Given the description of an element on the screen output the (x, y) to click on. 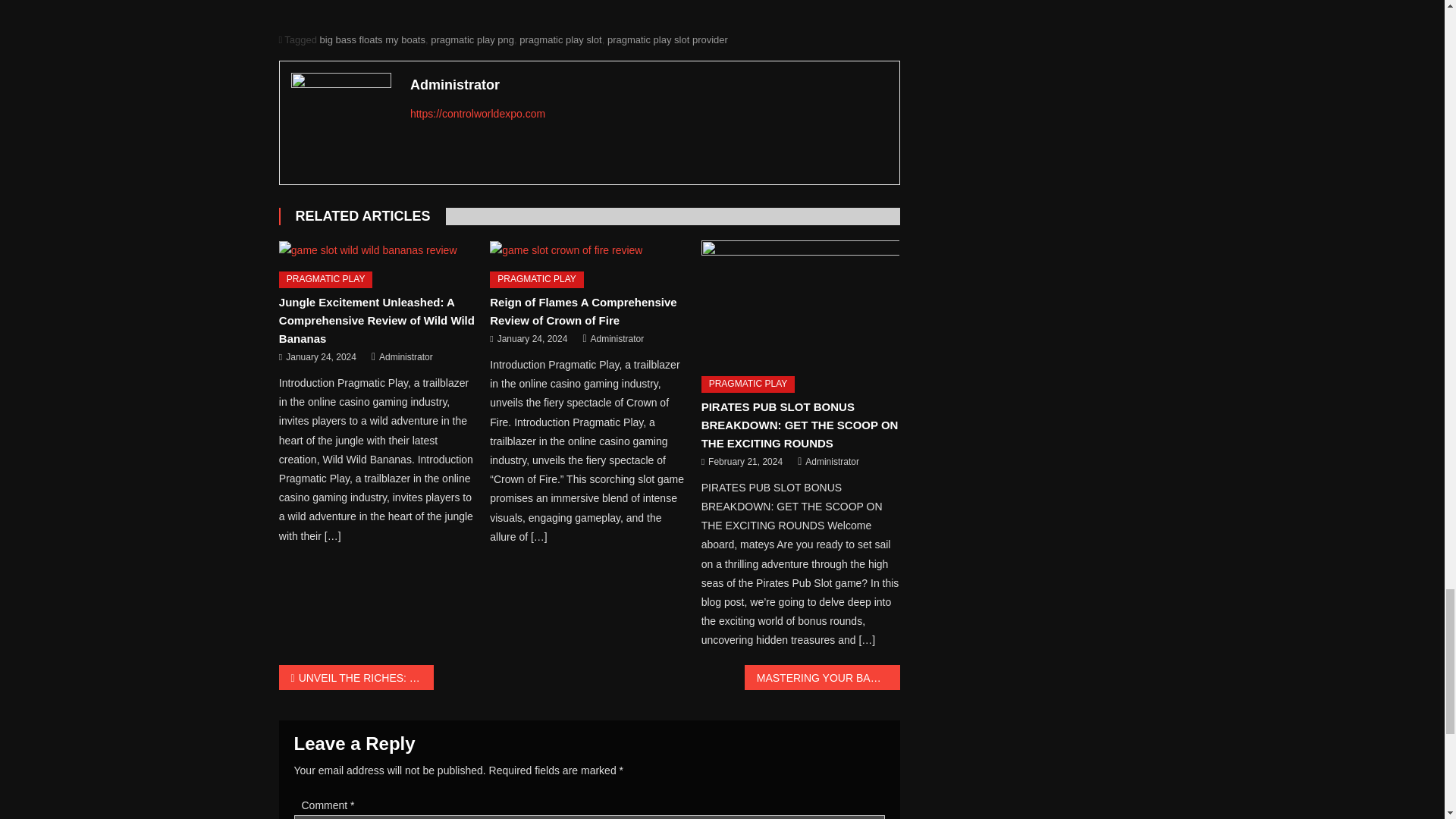
Administrator (618, 339)
Reign of Flames A Comprehensive Review of Crown of Fire (588, 250)
Reign of Flames A Comprehensive Review of Crown of Fire (583, 310)
February 21, 2024 (745, 462)
UNVEIL THE RICHES: TREES OF TREASURE SLOT REVIEW (356, 677)
January 24, 2024 (320, 357)
PRAGMATIC PLAY (325, 279)
pragmatic play slot provider (667, 39)
Administrator (832, 462)
pragmatic play slot (560, 39)
Administrator (649, 84)
